Given the description of an element on the screen output the (x, y) to click on. 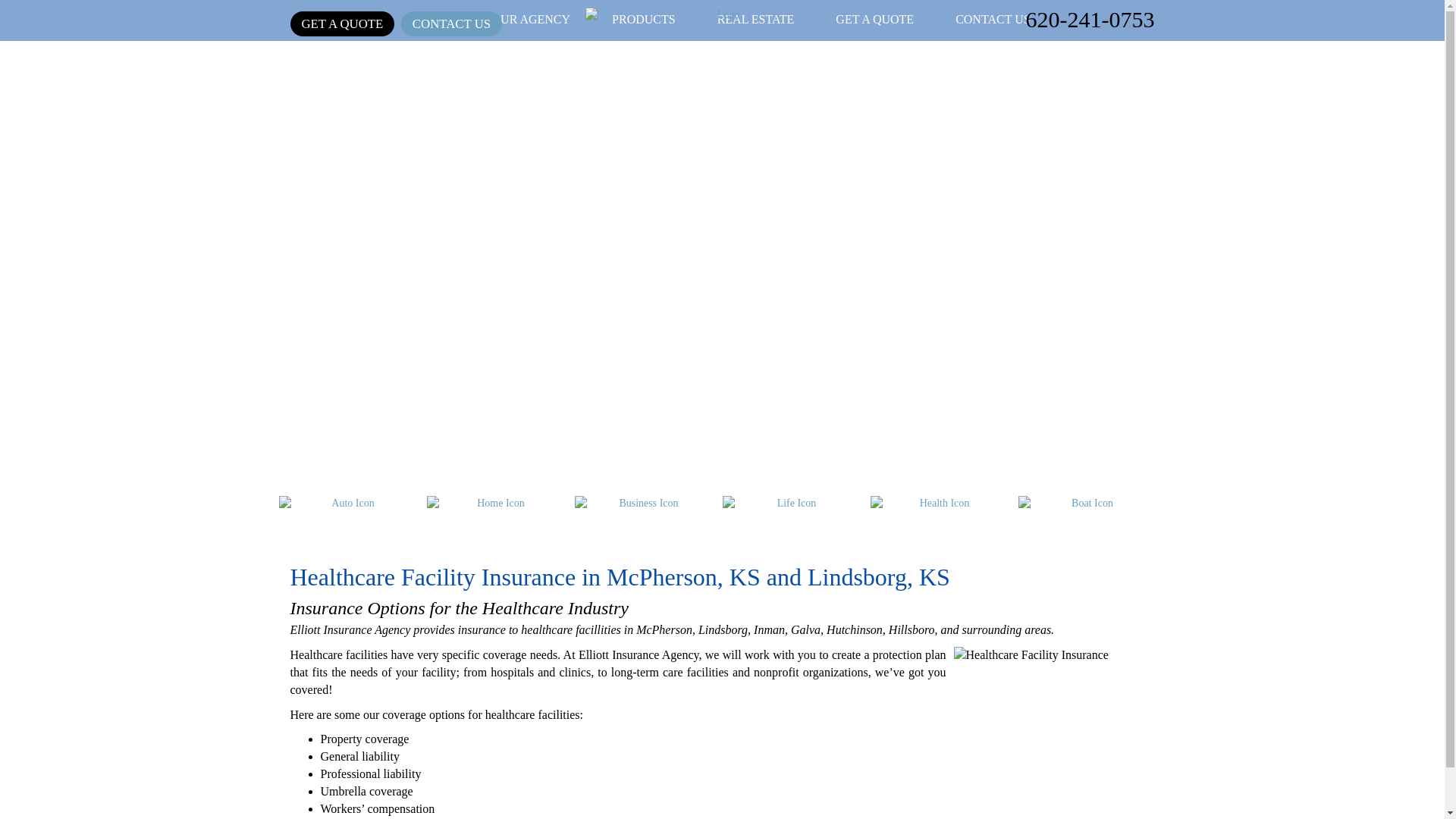
OUR AGENCY (531, 18)
620-241-0753 (1089, 18)
CONTACT US (451, 23)
HOME (431, 18)
PRODUCTS (643, 18)
Healthcare Facility Insurance (1050, 721)
GET A QUOTE (341, 23)
